Given the description of an element on the screen output the (x, y) to click on. 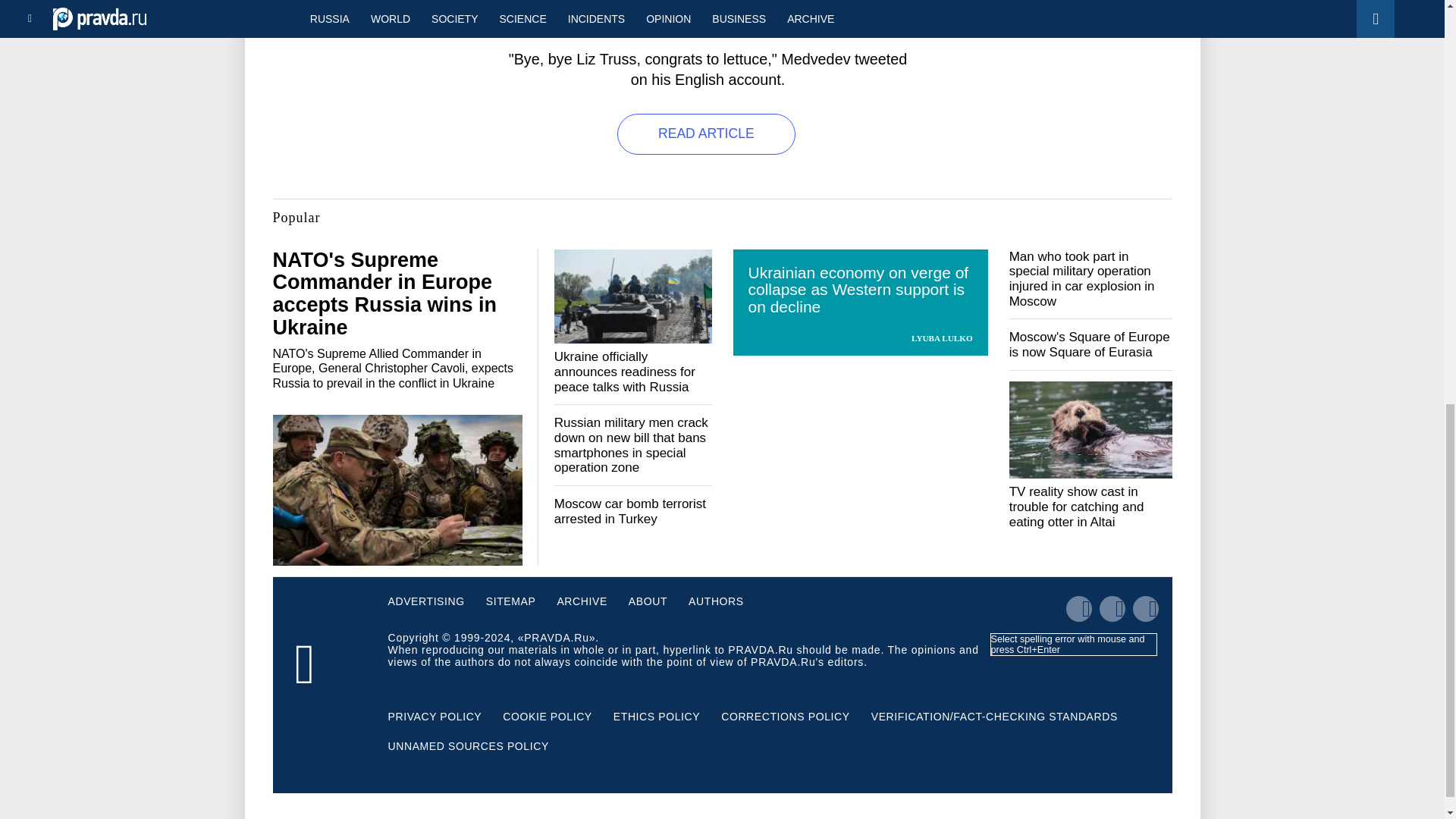
Back to top (1418, 79)
